Given the description of an element on the screen output the (x, y) to click on. 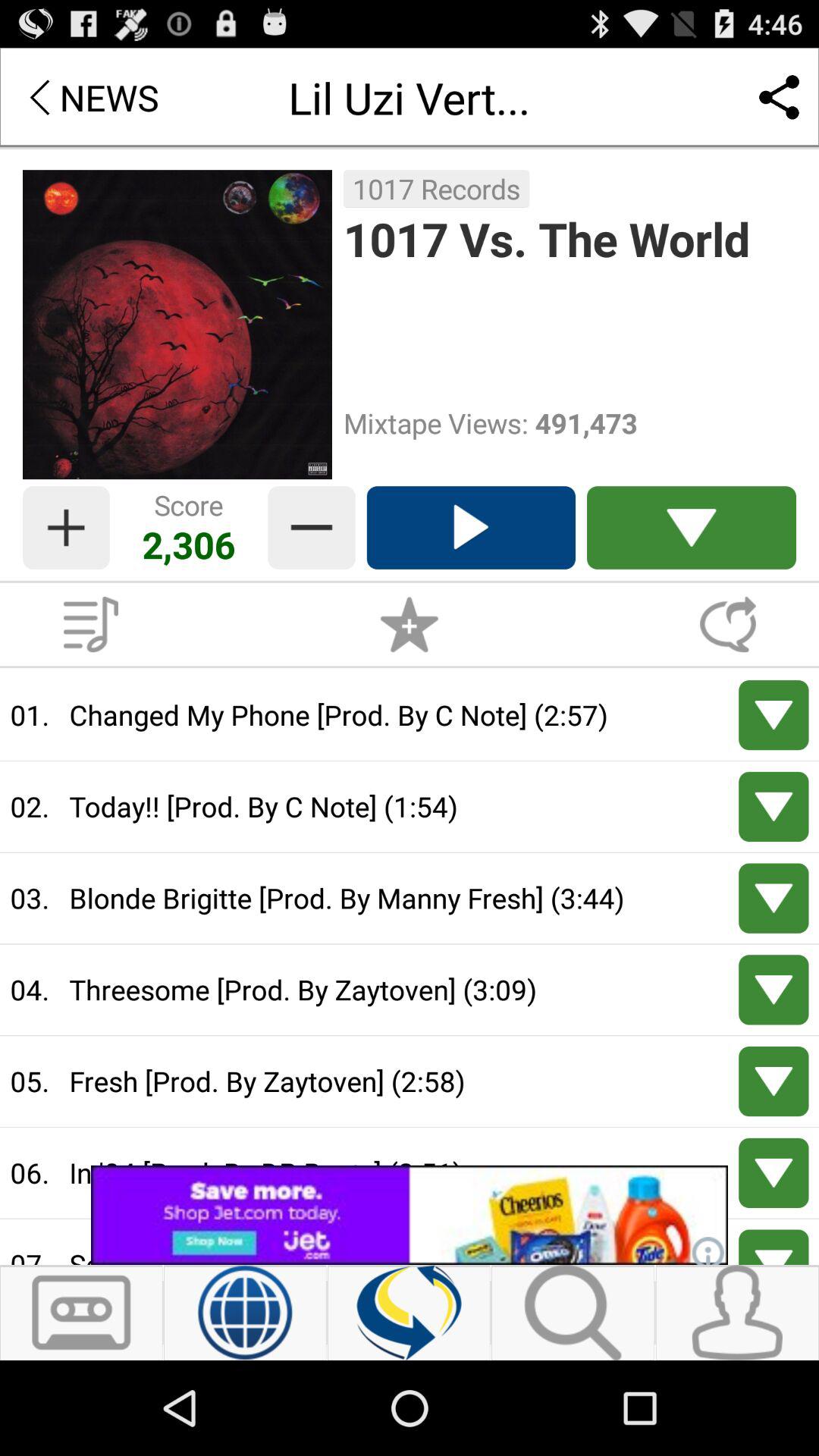
dropdown box expands and shows more options with green down arrows (691, 527)
